Given the description of an element on the screen output the (x, y) to click on. 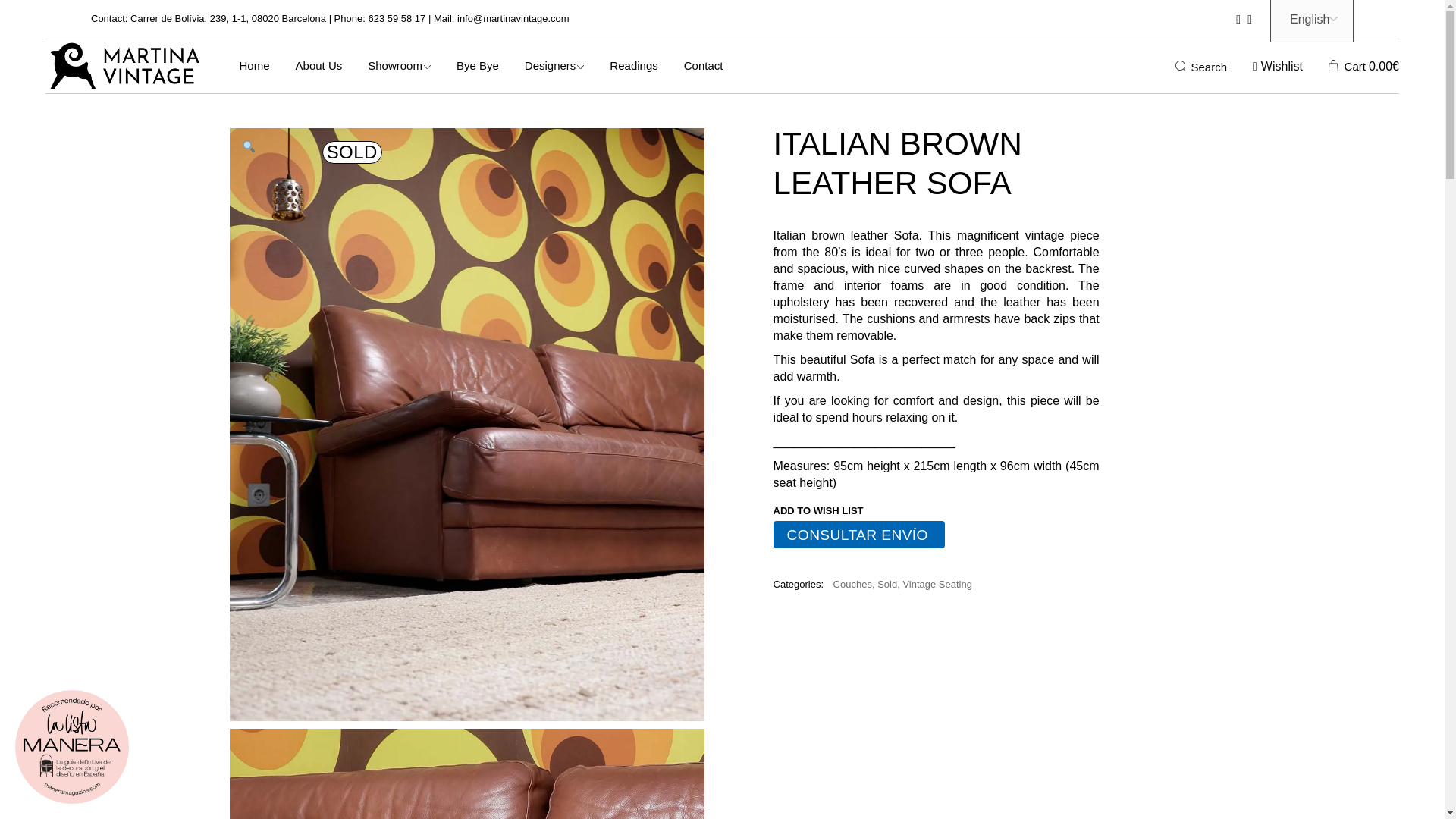
Designers (554, 66)
Showroom (399, 66)
